Given the description of an element on the screen output the (x, y) to click on. 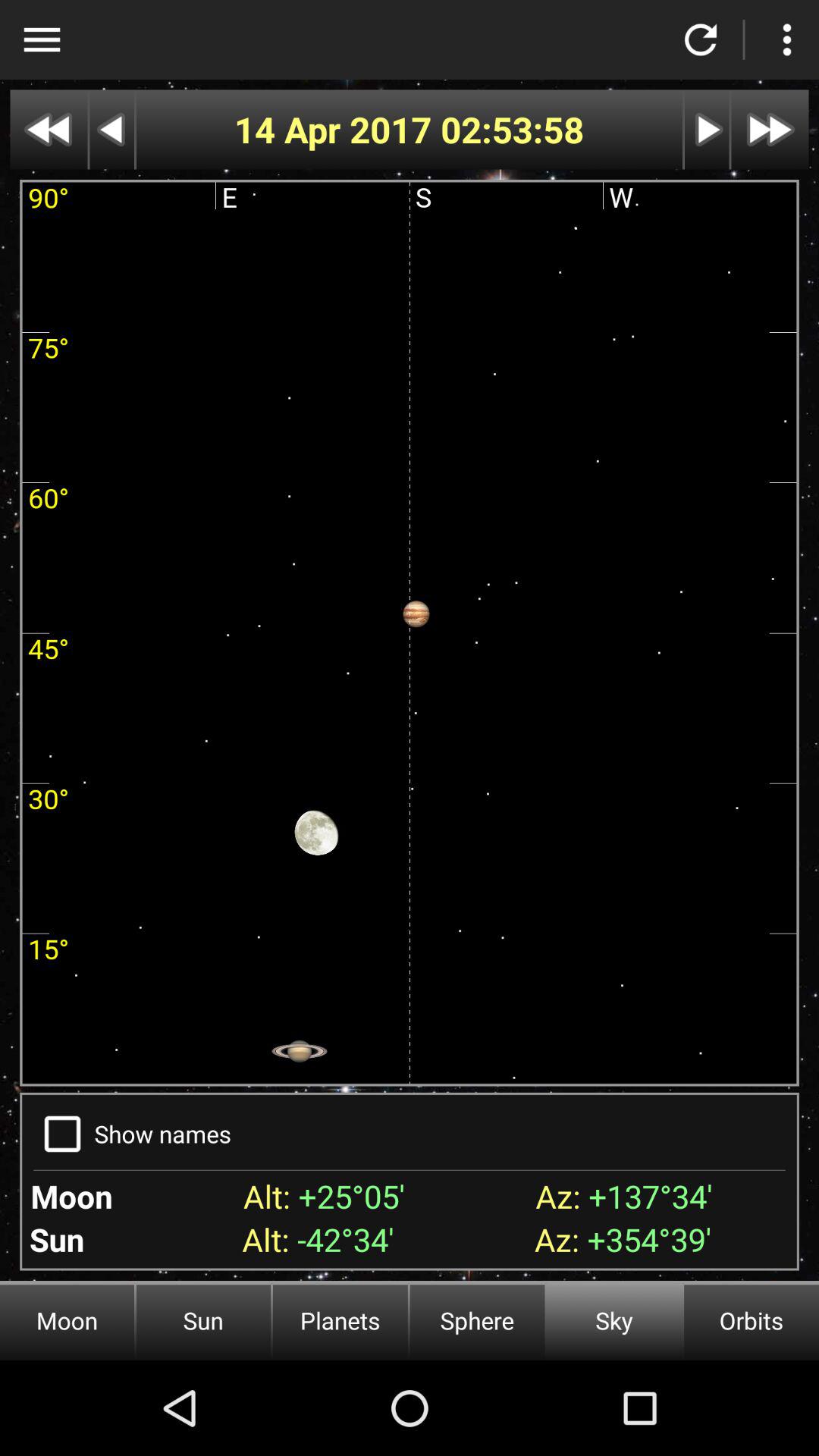
go back one day (111, 129)
